Given the description of an element on the screen output the (x, y) to click on. 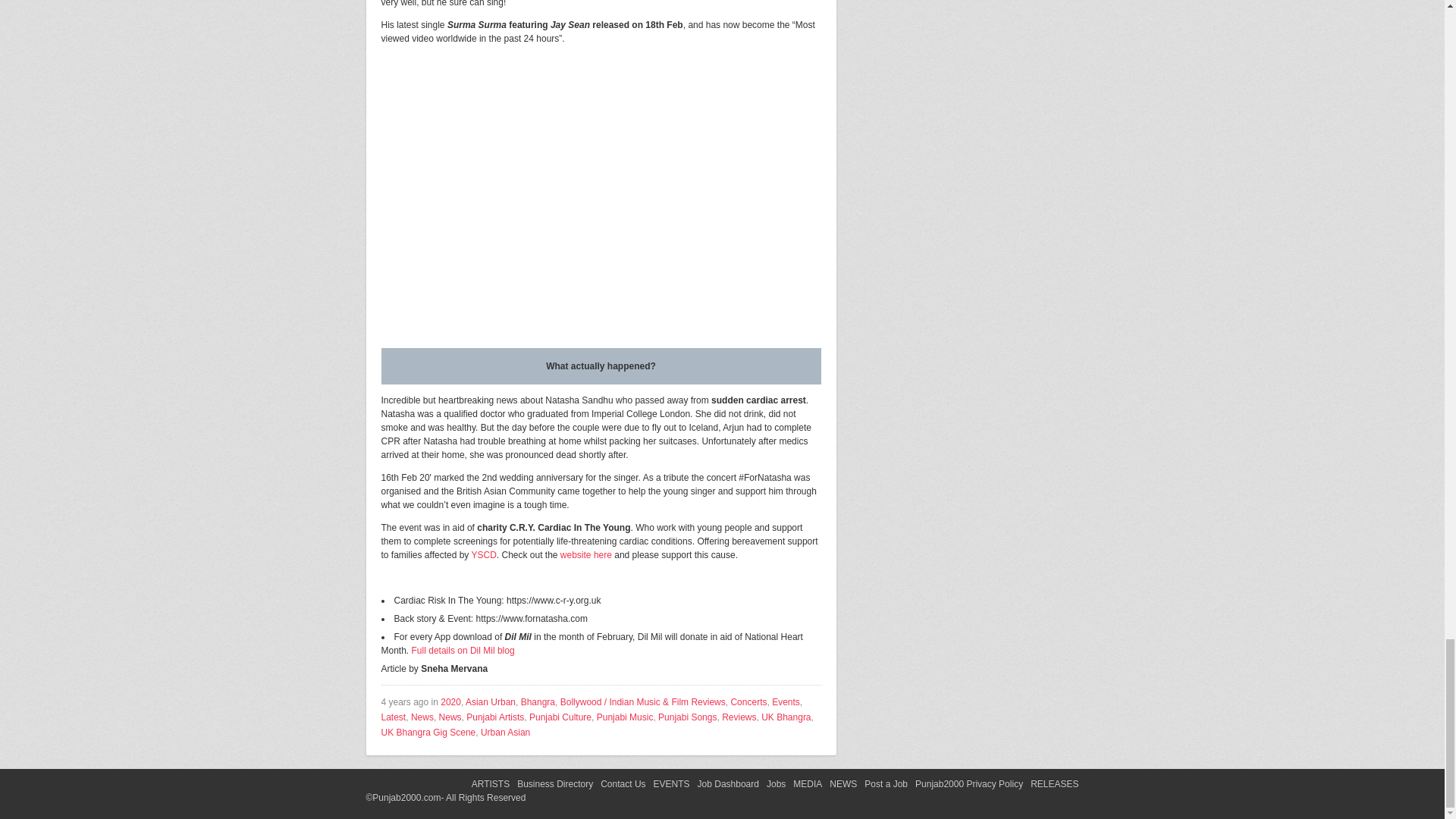
Asian Urban (490, 701)
Events (785, 701)
YSCD (483, 554)
Concerts (748, 701)
website here (585, 554)
Bhangra (537, 701)
Full details on Dil Mil blog (463, 650)
2020 (451, 701)
